Given the description of an element on the screen output the (x, y) to click on. 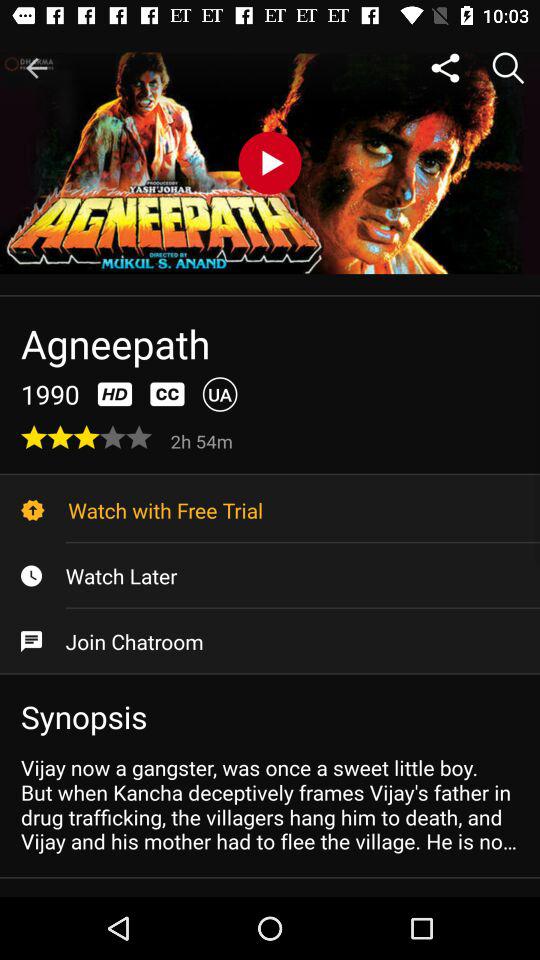
scroll to watch later (270, 575)
